Given the description of an element on the screen output the (x, y) to click on. 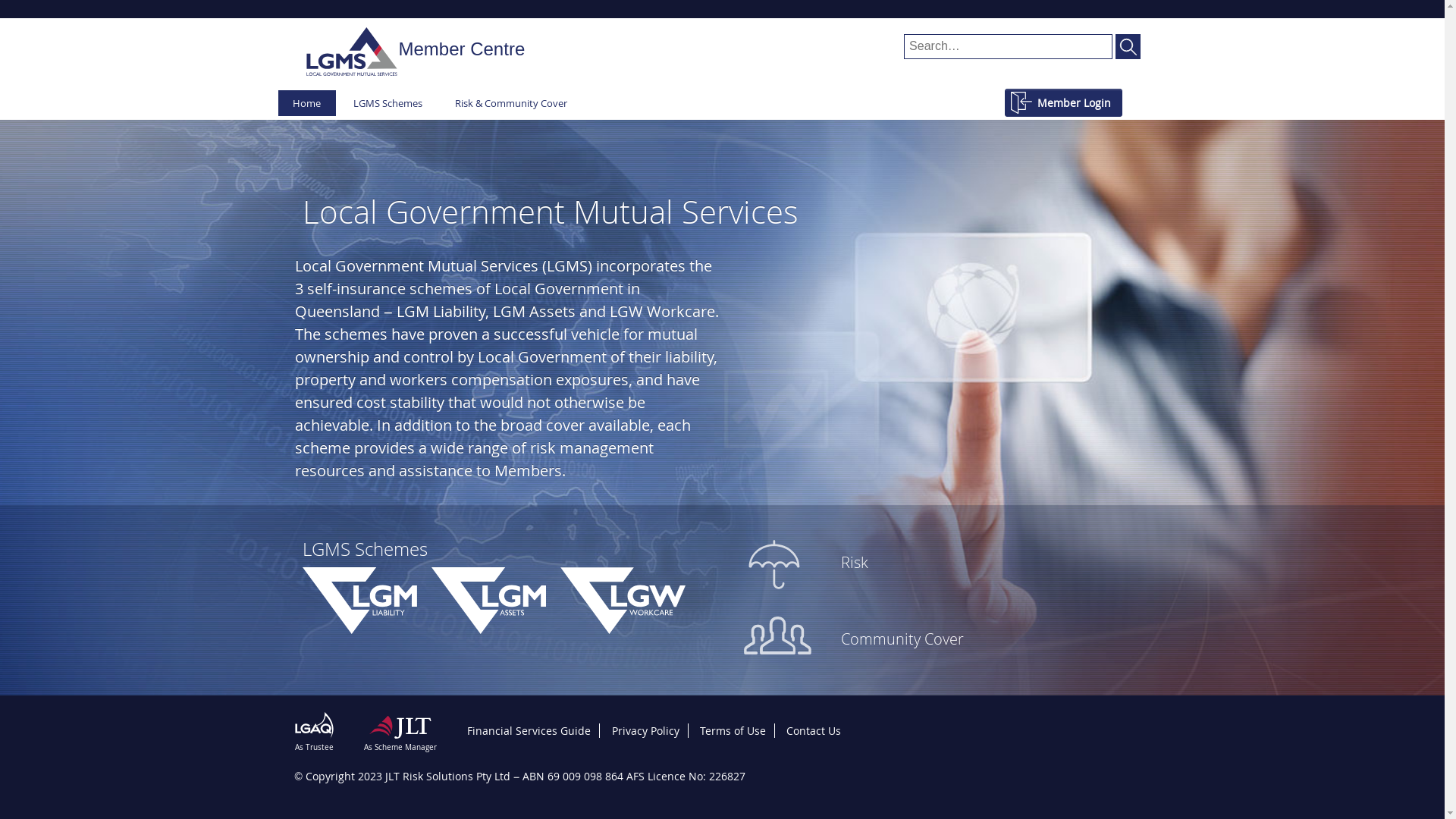
As Trustee Element type: text (317, 729)
Financial Services Guide Element type: text (528, 730)
Contact Us Element type: text (813, 730)
Member Login Element type: text (1063, 102)
Search Element type: text (1127, 46)
LGMS Schemes Element type: text (387, 103)
Community Cover Element type: text (942, 642)
As Scheme Manager Element type: text (400, 731)
Privacy Policy Element type: text (644, 730)
JLT Extranet Element type: text (351, 53)
Risk & Community Cover Element type: text (510, 103)
Home Element type: text (306, 103)
Terms of Use Element type: text (733, 730)
Risk Element type: text (942, 566)
